Given the description of an element on the screen output the (x, y) to click on. 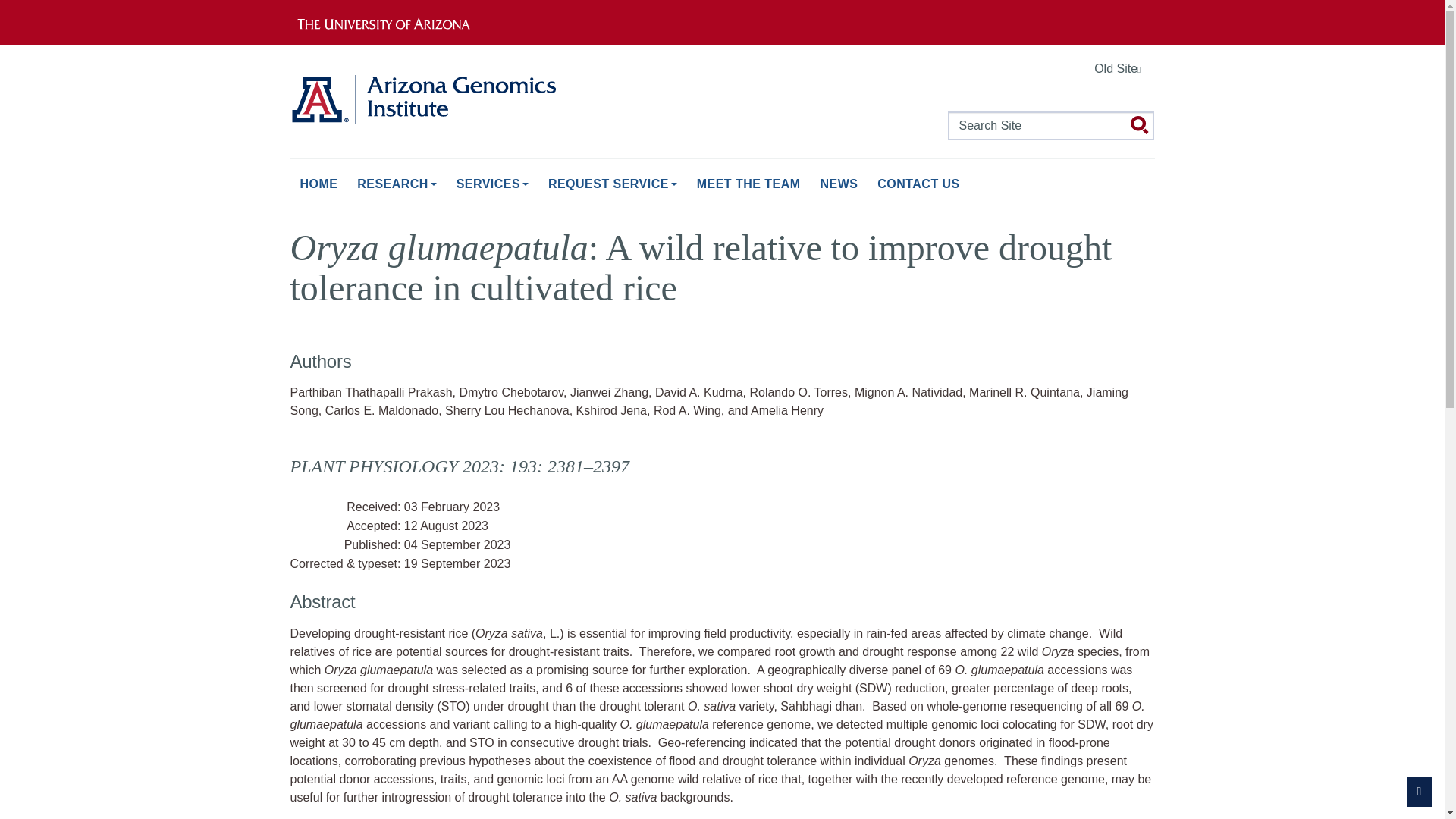
HOME (318, 183)
REQUEST SERVICE (612, 183)
The University of Arizona homepage (394, 21)
Search (1139, 126)
SERVICES (492, 183)
RESEARCH (396, 183)
AGI Staff (748, 183)
Old Site (1120, 69)
Enter the terms you wish to search for. (1050, 125)
NEWS (838, 183)
CONTACT US (918, 183)
Search (1139, 126)
